Given the description of an element on the screen output the (x, y) to click on. 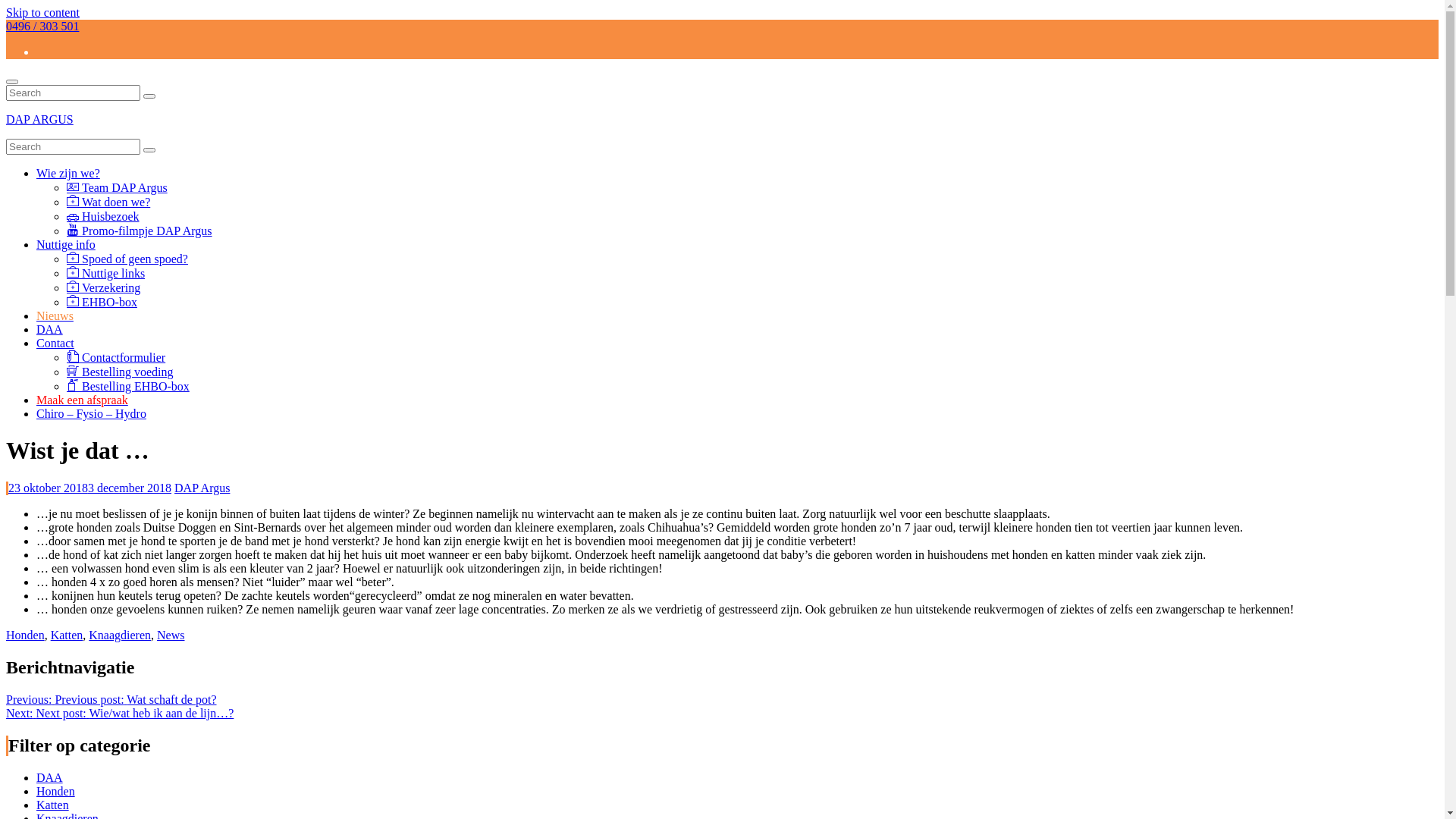
Promo-filmpje DAP Argus Element type: text (139, 230)
Bestelling EHBO-box Element type: text (127, 385)
Wie zijn we? Element type: text (68, 172)
Katten Element type: text (52, 803)
EHBO-box Element type: text (101, 301)
Previous: Previous post: Wat schaft de pot? Element type: text (111, 699)
Verzekering Element type: text (103, 287)
Team DAP Argus Element type: text (116, 187)
Katten Element type: text (66, 634)
Maak een afspraak Element type: text (82, 399)
Contactformulier Element type: text (115, 357)
News Element type: text (170, 634)
DAP ARGUS Element type: text (39, 118)
0496 / 303 501 Element type: text (42, 25)
Nuttige info Element type: text (65, 244)
Honden Element type: text (55, 790)
Skip to content Element type: text (42, 12)
DAA Element type: text (49, 329)
DAA Element type: text (49, 776)
Huisbezoek Element type: text (102, 216)
Honden Element type: text (25, 634)
Knaagdieren Element type: text (119, 634)
23 oktober 20183 december 2018 Element type: text (89, 487)
Contact Element type: text (55, 342)
Wat doen we? Element type: text (108, 201)
DAP Argus Element type: text (201, 487)
Bestelling voeding Element type: text (119, 371)
Nieuws Element type: text (54, 315)
Nuttige links Element type: text (105, 272)
Spoed of geen spoed? Element type: text (127, 258)
